Given the description of an element on the screen output the (x, y) to click on. 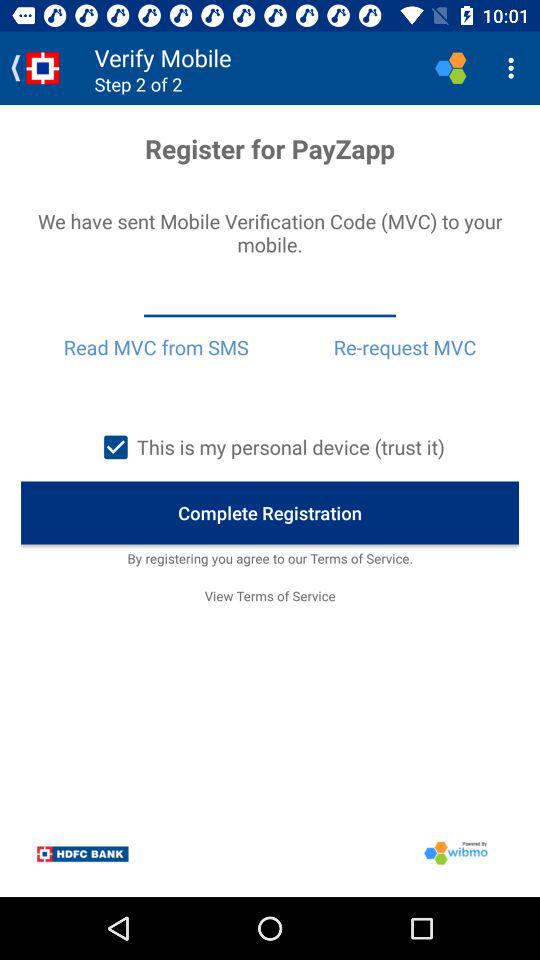
choose the item below the read mvc from (269, 447)
